Given the description of an element on the screen output the (x, y) to click on. 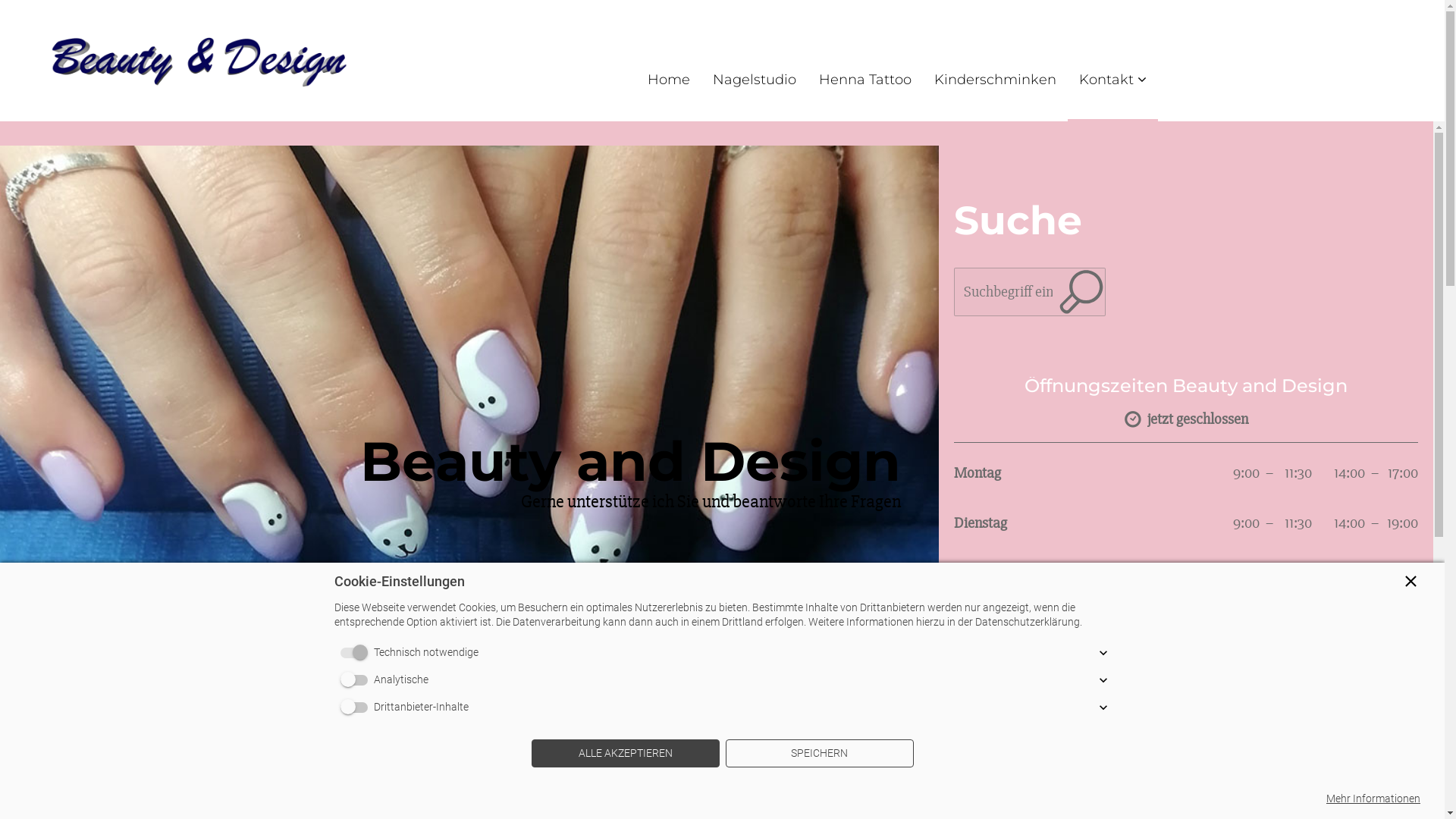
Henna Tattoo Element type: text (865, 79)
ALLE AKZEPTIEREN Element type: text (624, 753)
Mehr Informationen Element type: text (1373, 798)
SPEICHERN Element type: text (818, 753)
Home Element type: text (668, 79)
Kinderschminken Element type: text (995, 79)
Nagelstudio Element type: text (754, 79)
Kontakt Element type: text (1111, 79)
